Given the description of an element on the screen output the (x, y) to click on. 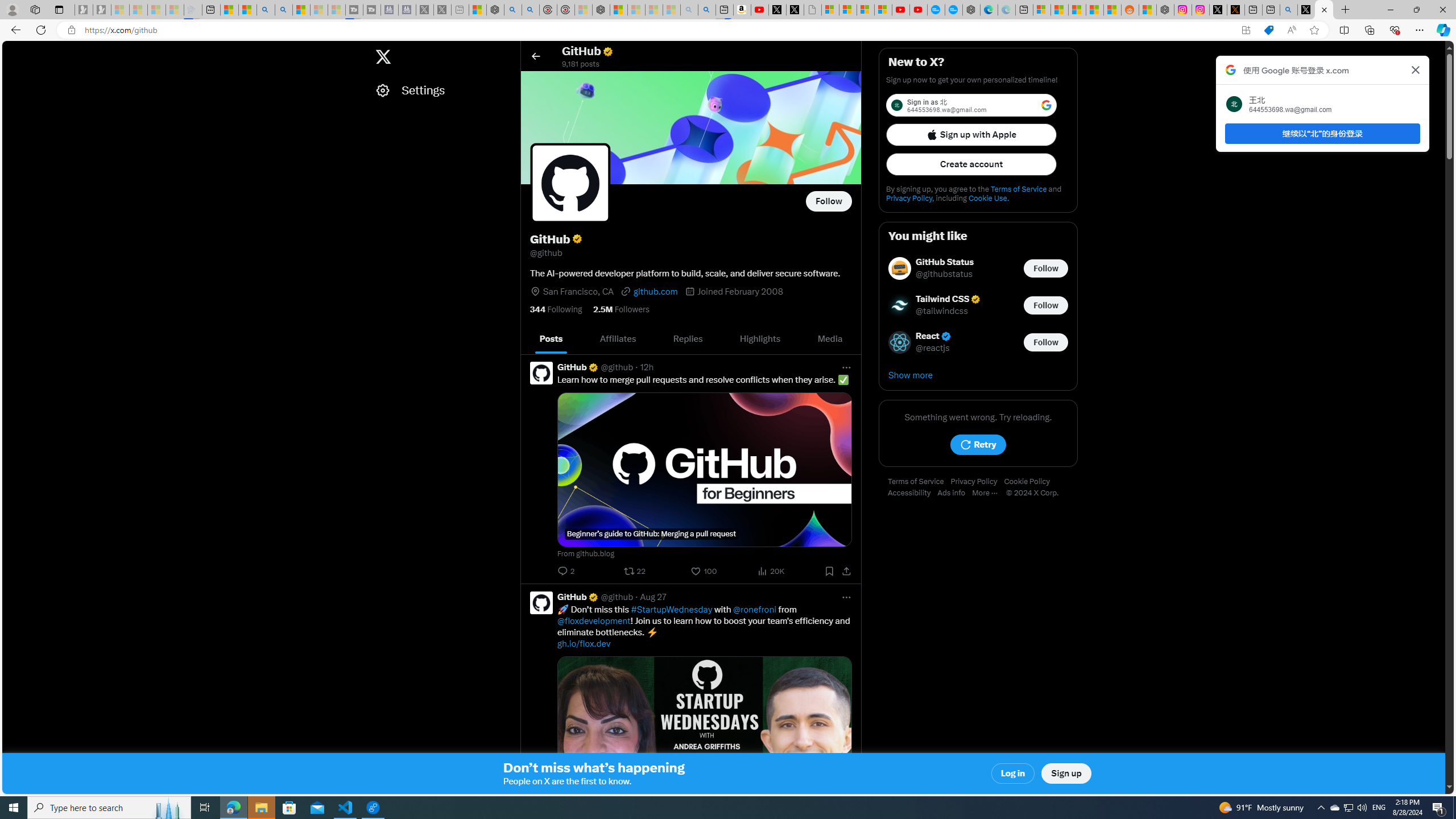
Highlights (759, 338)
github.com (649, 290)
github - Search (1289, 9)
20811 views. View post analytics (772, 571)
Sign up with Apple (971, 134)
gh.io/flox.dev (584, 643)
Shanghai, China weather forecast | Microsoft Weather (1059, 9)
Previous (532, 338)
Shopping in Microsoft Edge (1268, 29)
Bookmark (829, 571)
Share post (846, 571)
Nordace - Nordace Siena Is Not An Ordinary Backpack (601, 9)
